Given the description of an element on the screen output the (x, y) to click on. 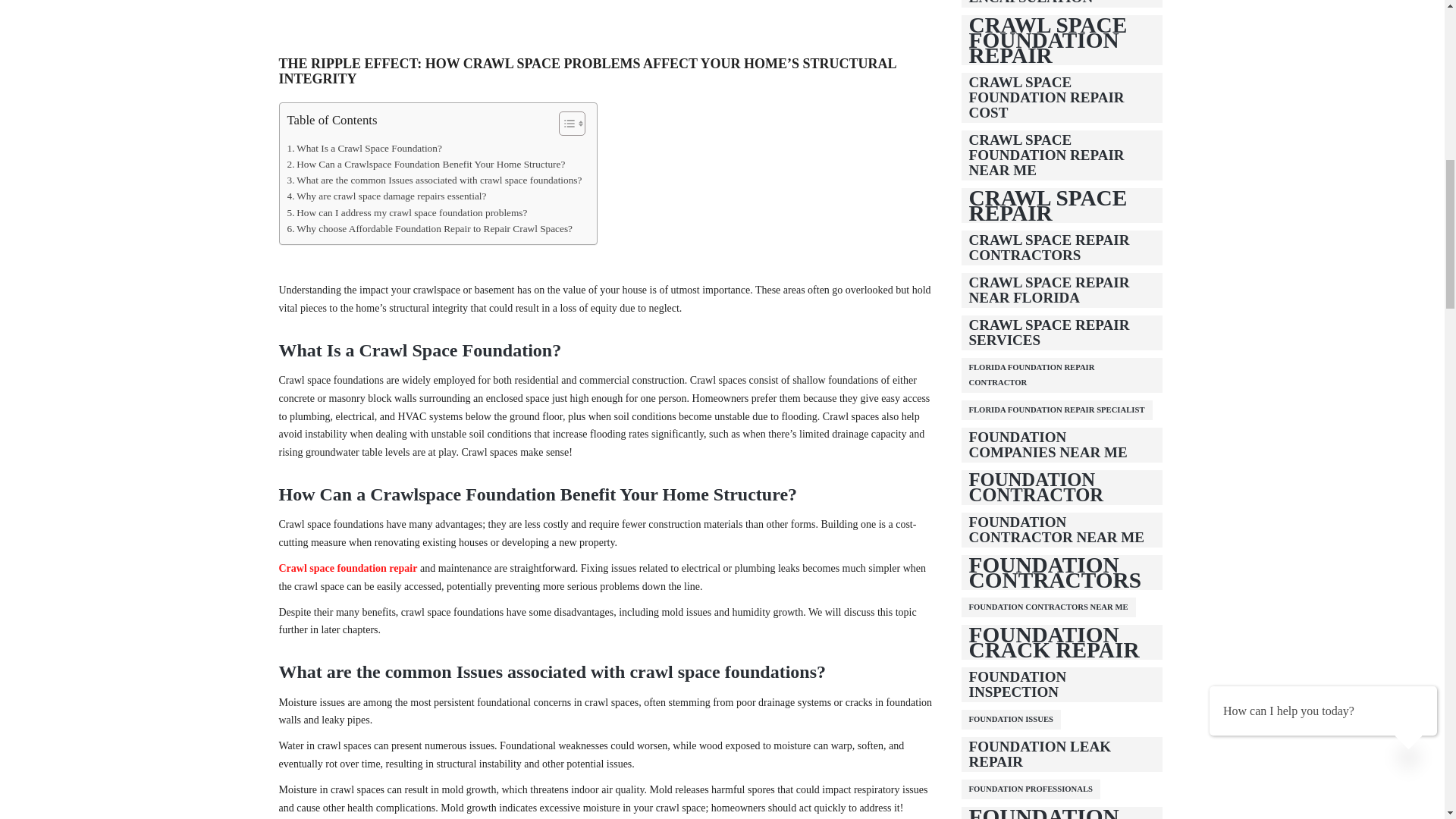
How can I address my crawl space foundation problems? (406, 212)
Why are crawl space damage repairs essential? (386, 195)
How Can a Crawlspace Foundation Benefit Your Home Structure? (425, 163)
What Is a Crawl Space Foundation? (363, 148)
What Is a Crawl Space Foundation? (363, 148)
How Can a Crawlspace Foundation Benefit Your Home Structure? (425, 163)
